Given the description of an element on the screen output the (x, y) to click on. 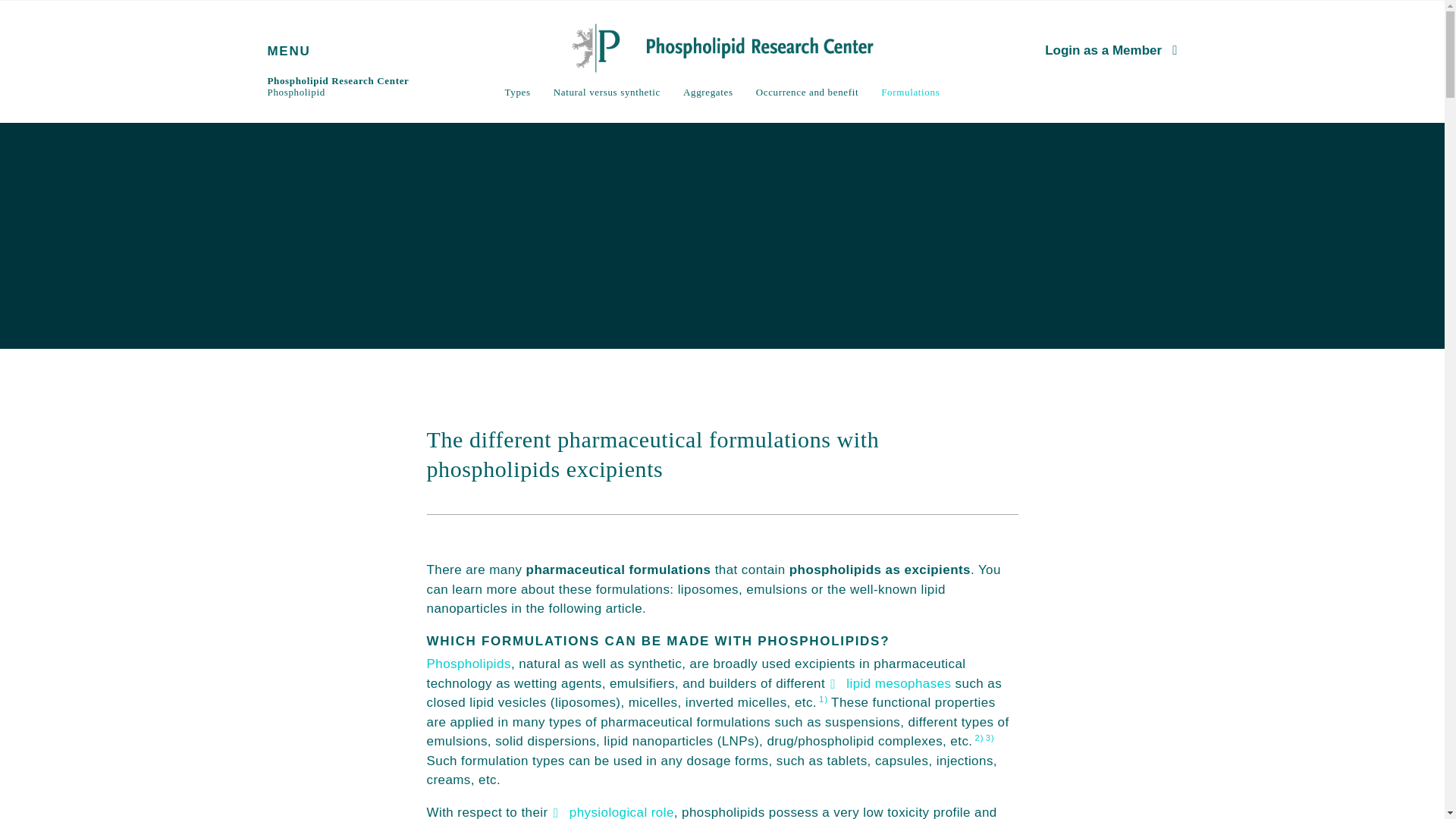
Phospholipids (468, 664)
